Given the description of an element on the screen output the (x, y) to click on. 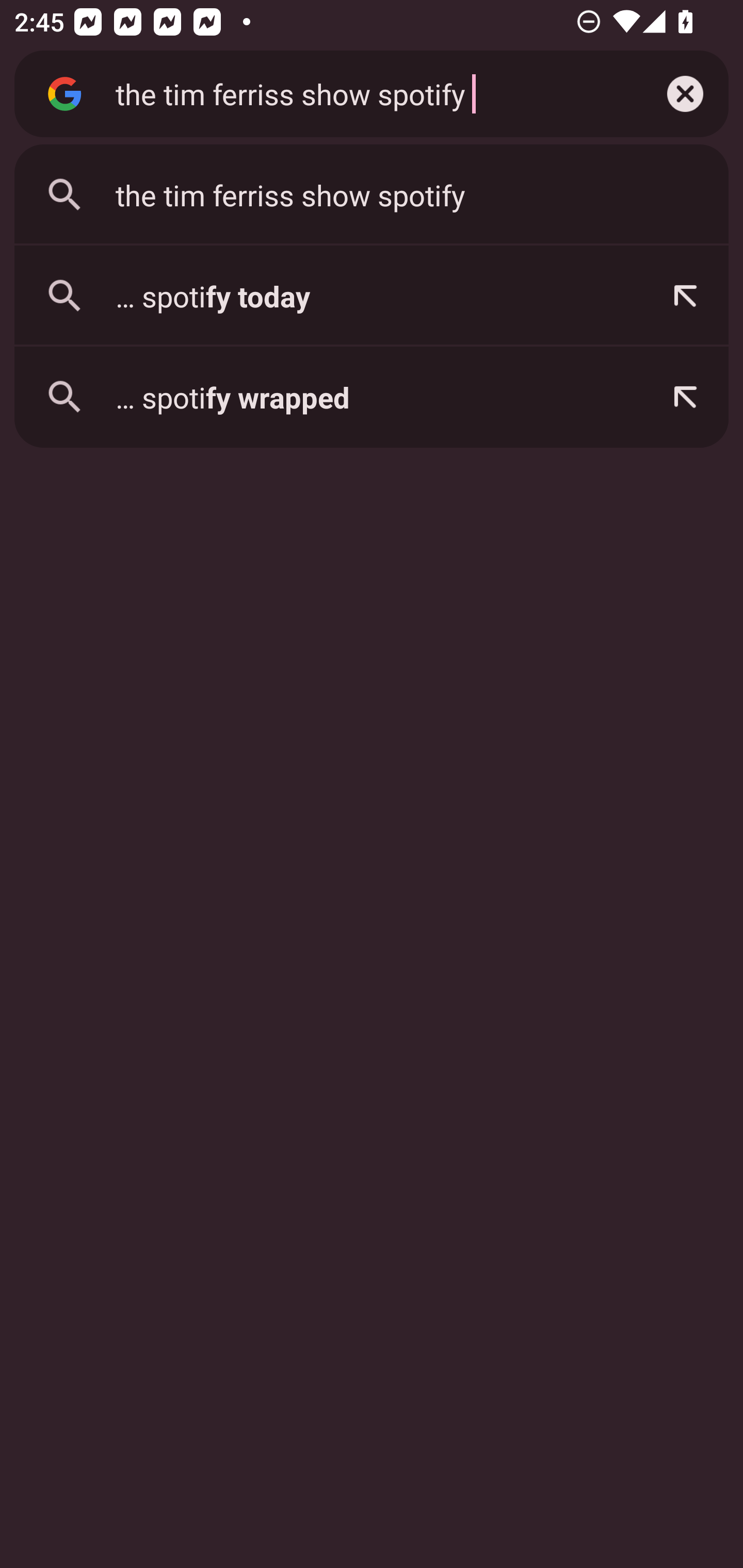
Clear input (684, 93)
the tim ferriss show spotify  (367, 92)
the tim ferriss show spotify (371, 195)
Refine: the tim ferriss show spotify today (684, 296)
Refine: the tim ferriss show spotify wrapped (684, 397)
